Given the description of an element on the screen output the (x, y) to click on. 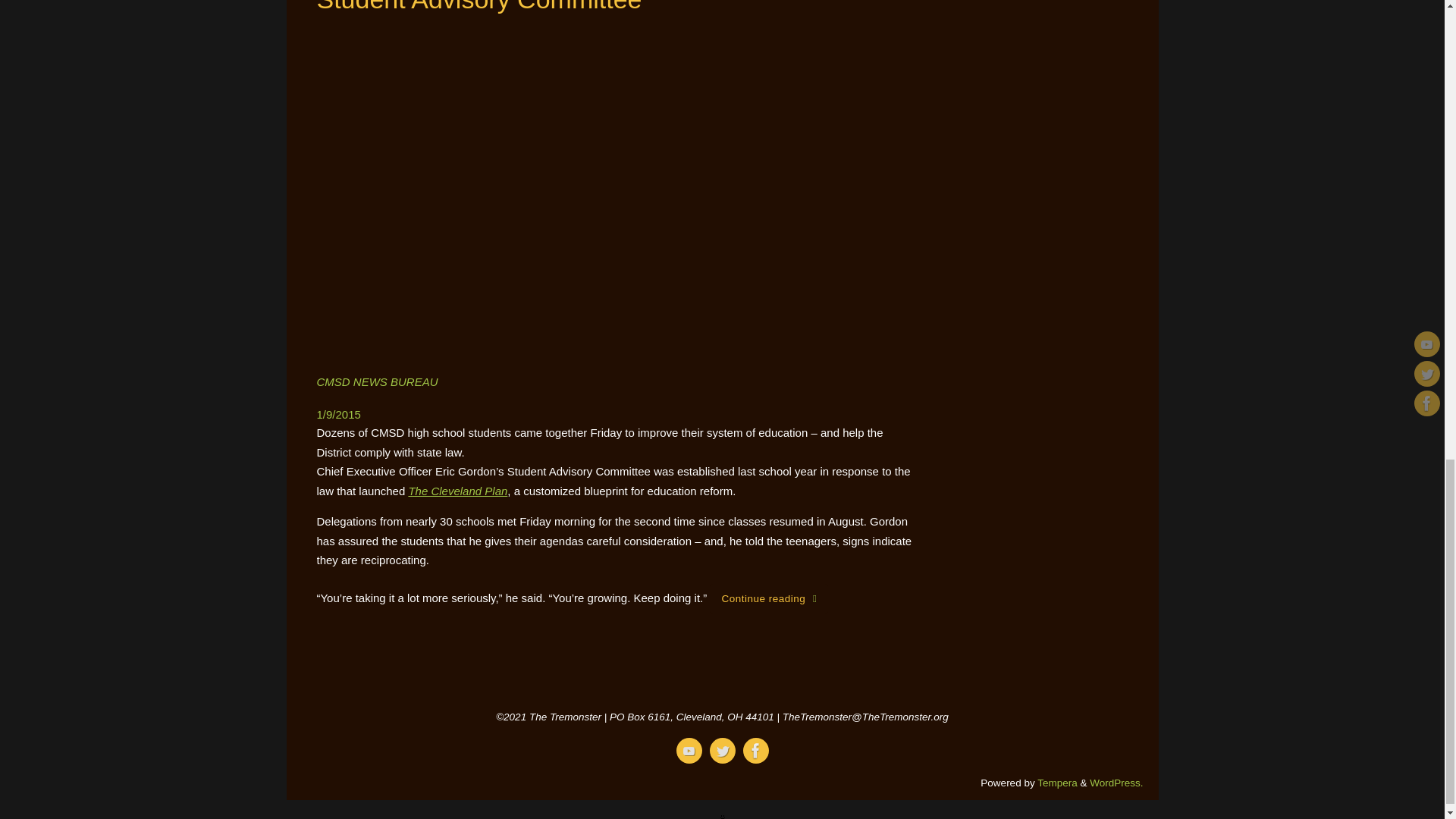
The Cleveland Plan (456, 490)
Continue reading (769, 599)
Tempera (1056, 782)
WordPress. (1115, 782)
